Given the description of an element on the screen output the (x, y) to click on. 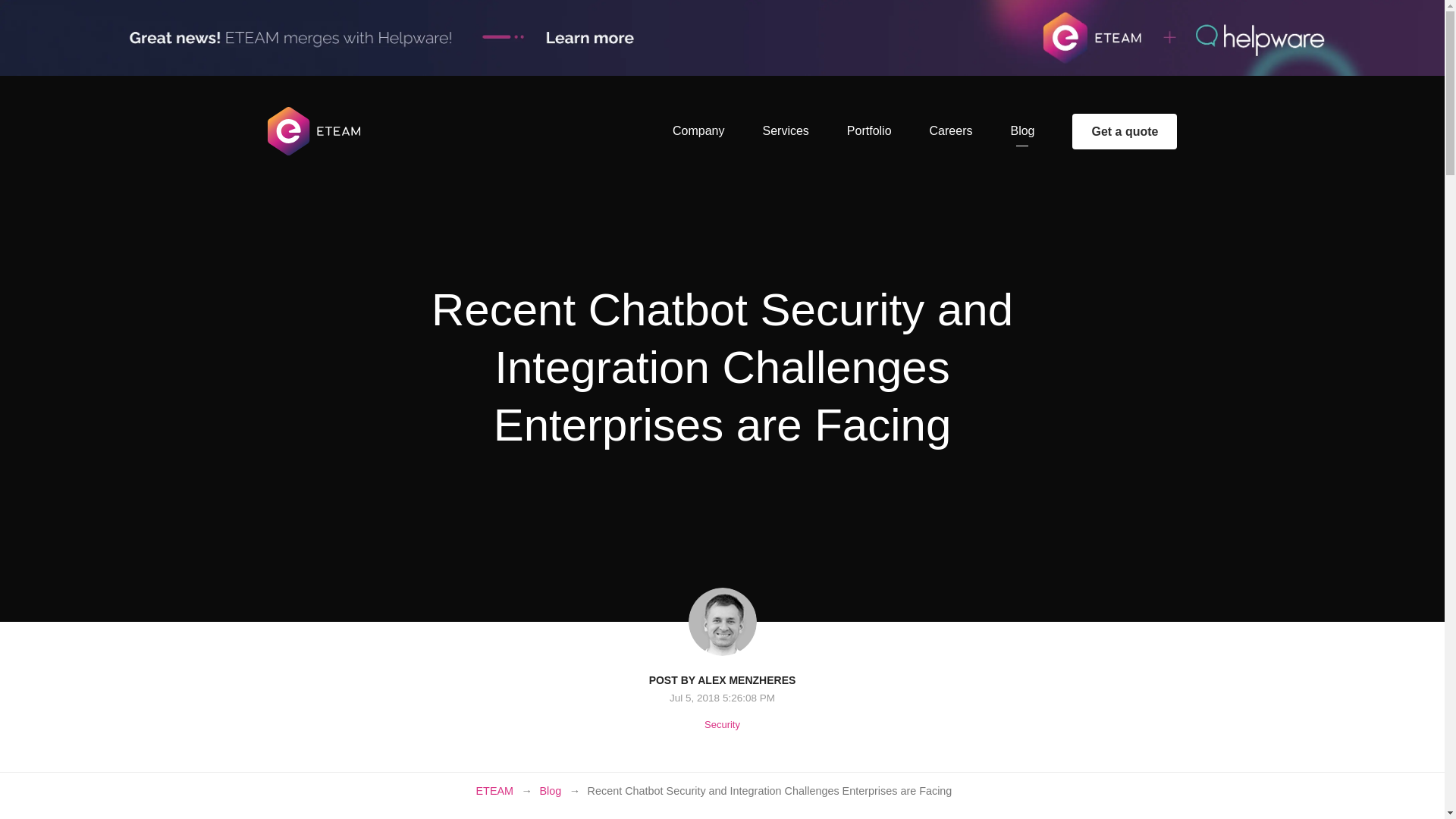
Portfolio (869, 130)
Blog (1021, 130)
Careers (951, 130)
Get a quote (1123, 131)
Blog (549, 790)
Company (697, 130)
Security (721, 724)
ETEAM (494, 790)
To eTeam.io website (314, 145)
Services (784, 130)
